Given the description of an element on the screen output the (x, y) to click on. 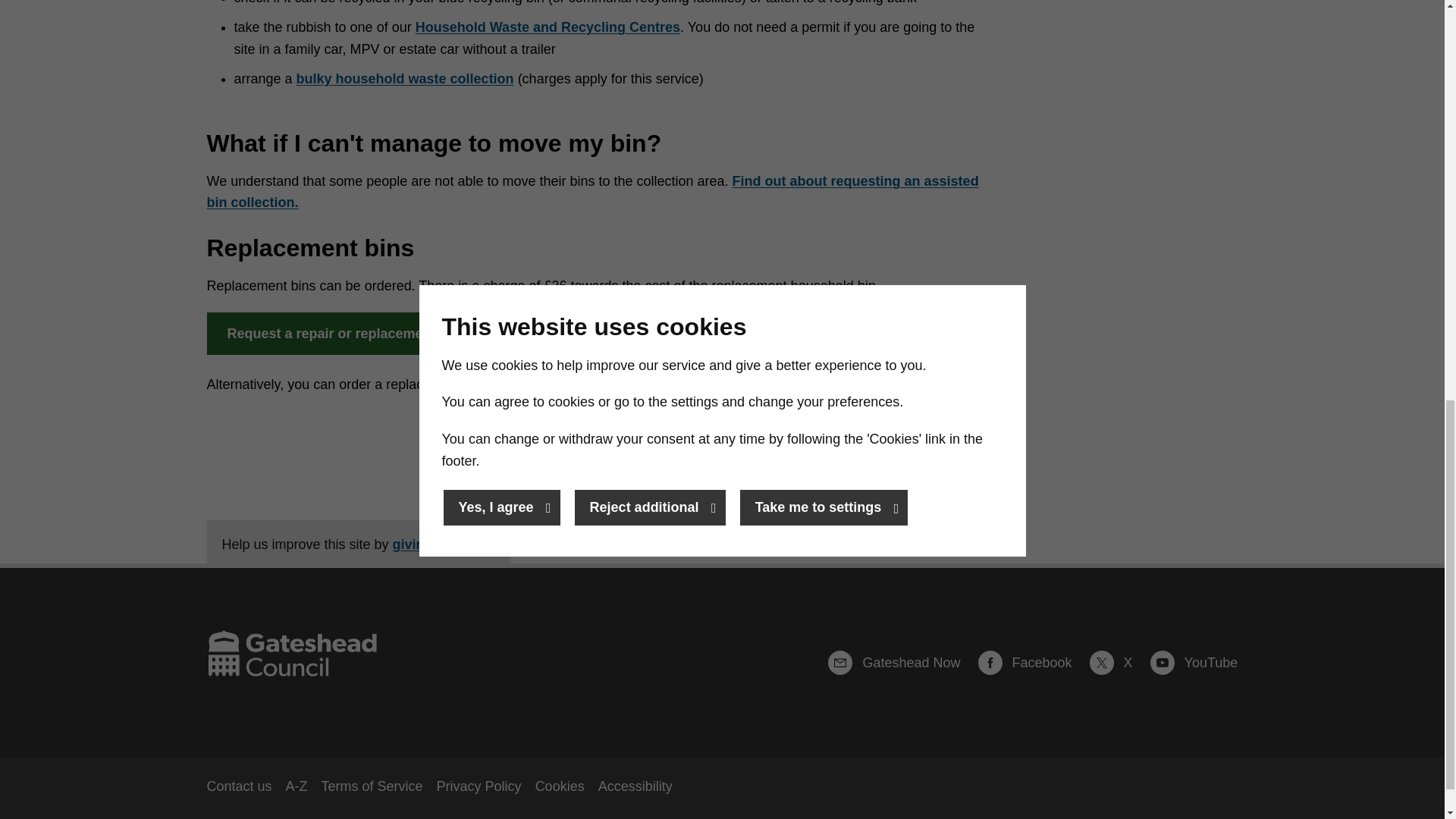
giving feedback (444, 544)
bulky household waste collection (405, 78)
YouTube : opens on new browser window or tab (1194, 662)
Gateshead Now (901, 662)
Household Waste and Recycling Centres (546, 27)
X : opens on new browser window or tab (1118, 662)
Find out about requesting an assisted bin collection. (592, 191)
Request a repair or replacement bin (343, 333)
Facebook : opens on new browser window or tab (1032, 662)
Gateshead Now (901, 662)
